Given the description of an element on the screen output the (x, y) to click on. 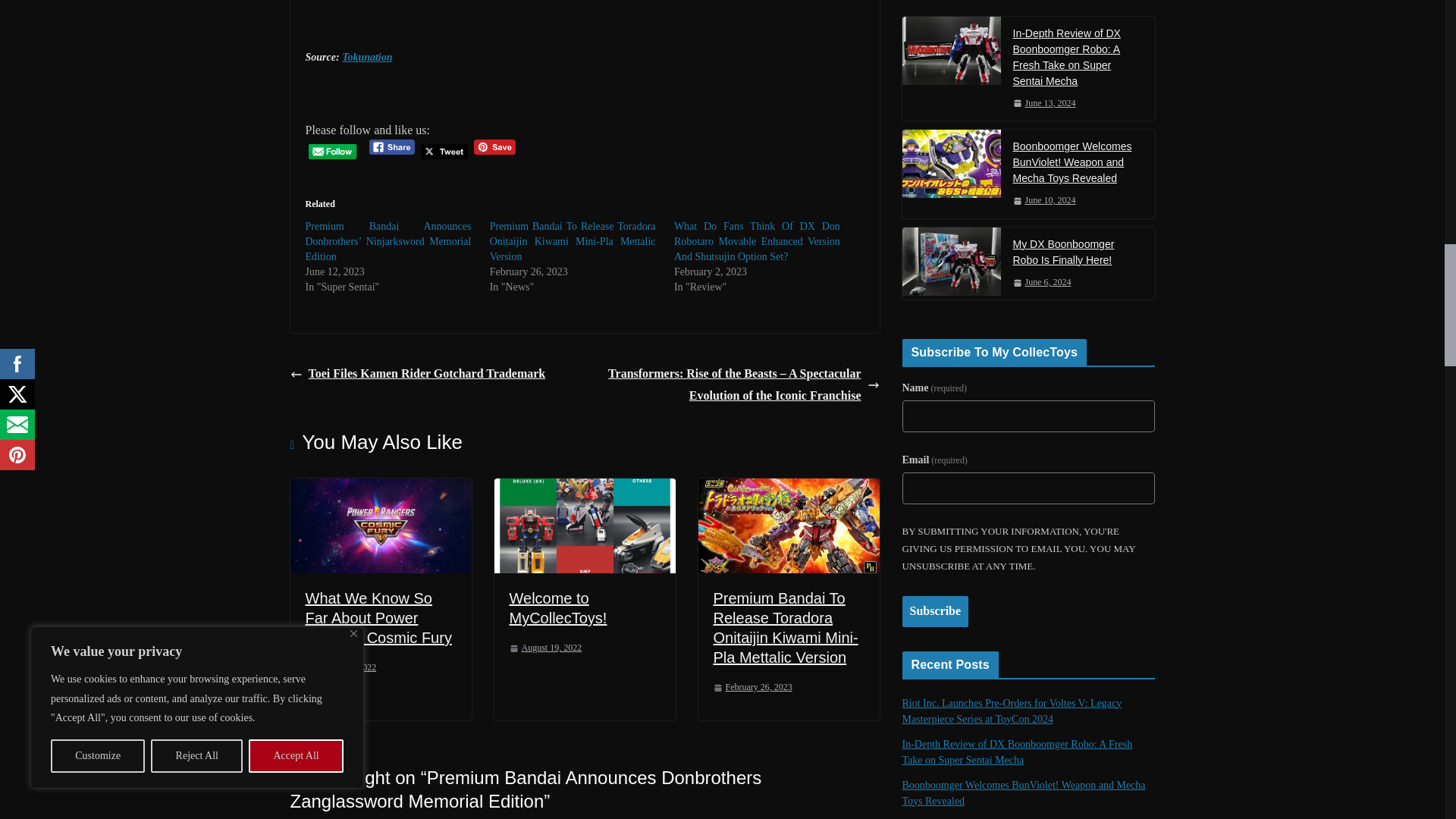
Tweet (443, 151)
Facebook Share (391, 147)
Pin Share (494, 147)
